Given the description of an element on the screen output the (x, y) to click on. 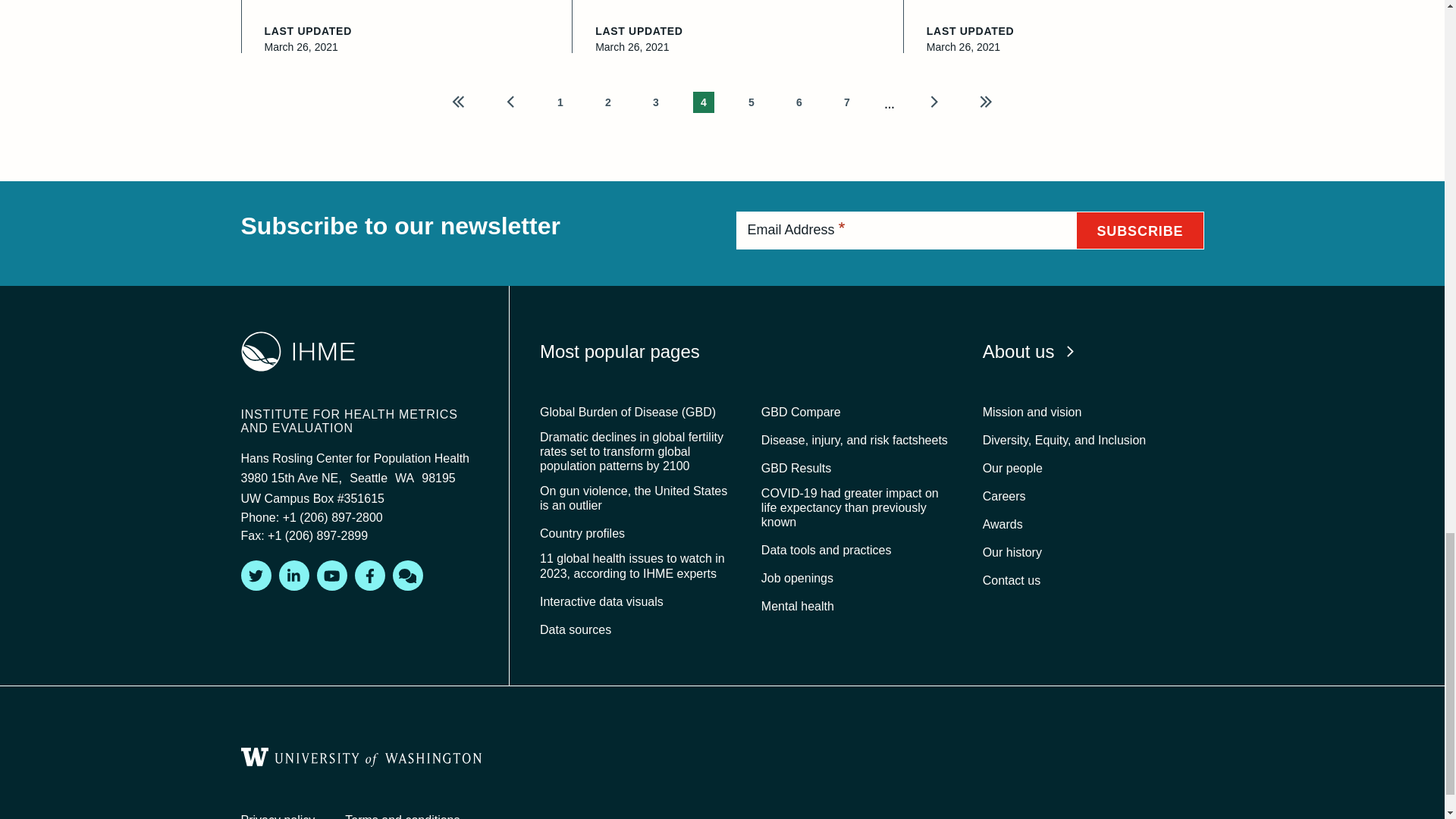
IHME logo white (298, 351)
Go to previous page (510, 101)
Go to page 5 (751, 101)
Go to first page (457, 101)
Go to page 1 (560, 101)
Subscribe (1139, 230)
Go to last page (986, 101)
Go to page 6 (799, 101)
Go to page 2 (607, 101)
Current page (703, 101)
Go to page 3 (655, 101)
Go to next page (932, 101)
Go to page 7 (846, 101)
